Given the description of an element on the screen output the (x, y) to click on. 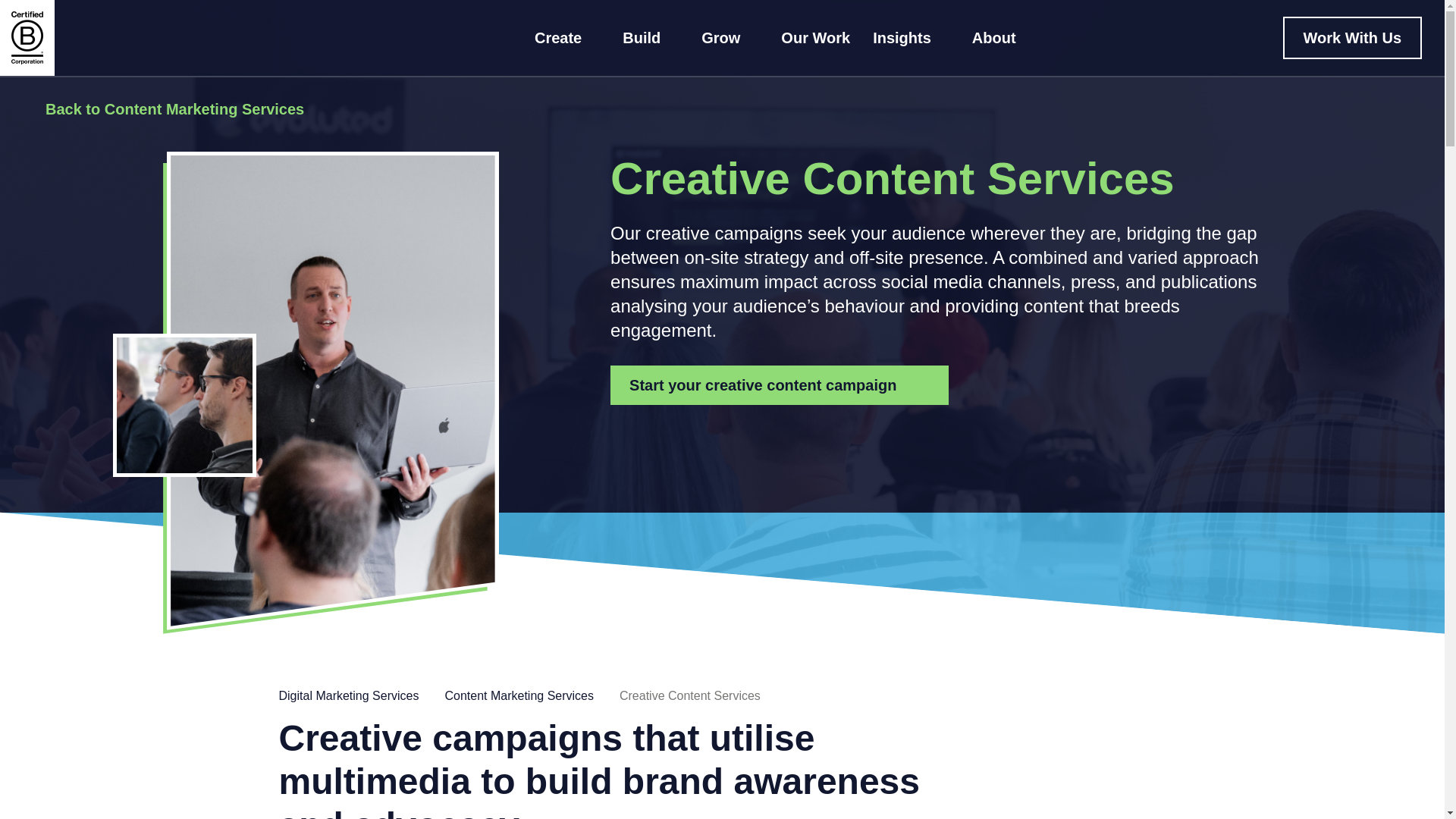
Create (566, 38)
Grow (730, 38)
Build (650, 38)
Evoluted Homepage (172, 39)
